Given the description of an element on the screen output the (x, y) to click on. 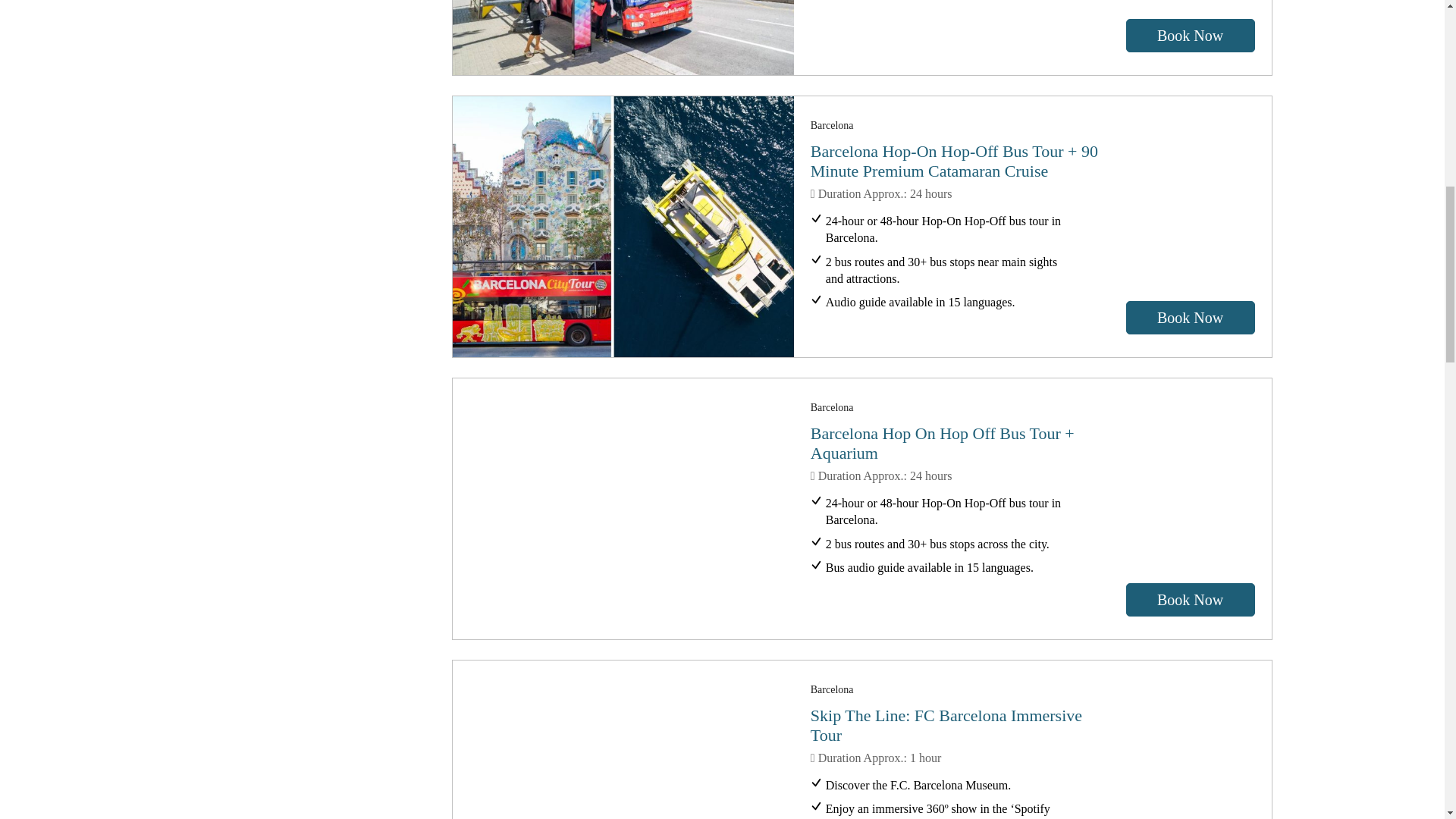
A photo of a young boy looking at a football trophy. (622, 739)
A hop-on hop-off tour bus parked in Barcelona. (622, 37)
